Given the description of an element on the screen output the (x, y) to click on. 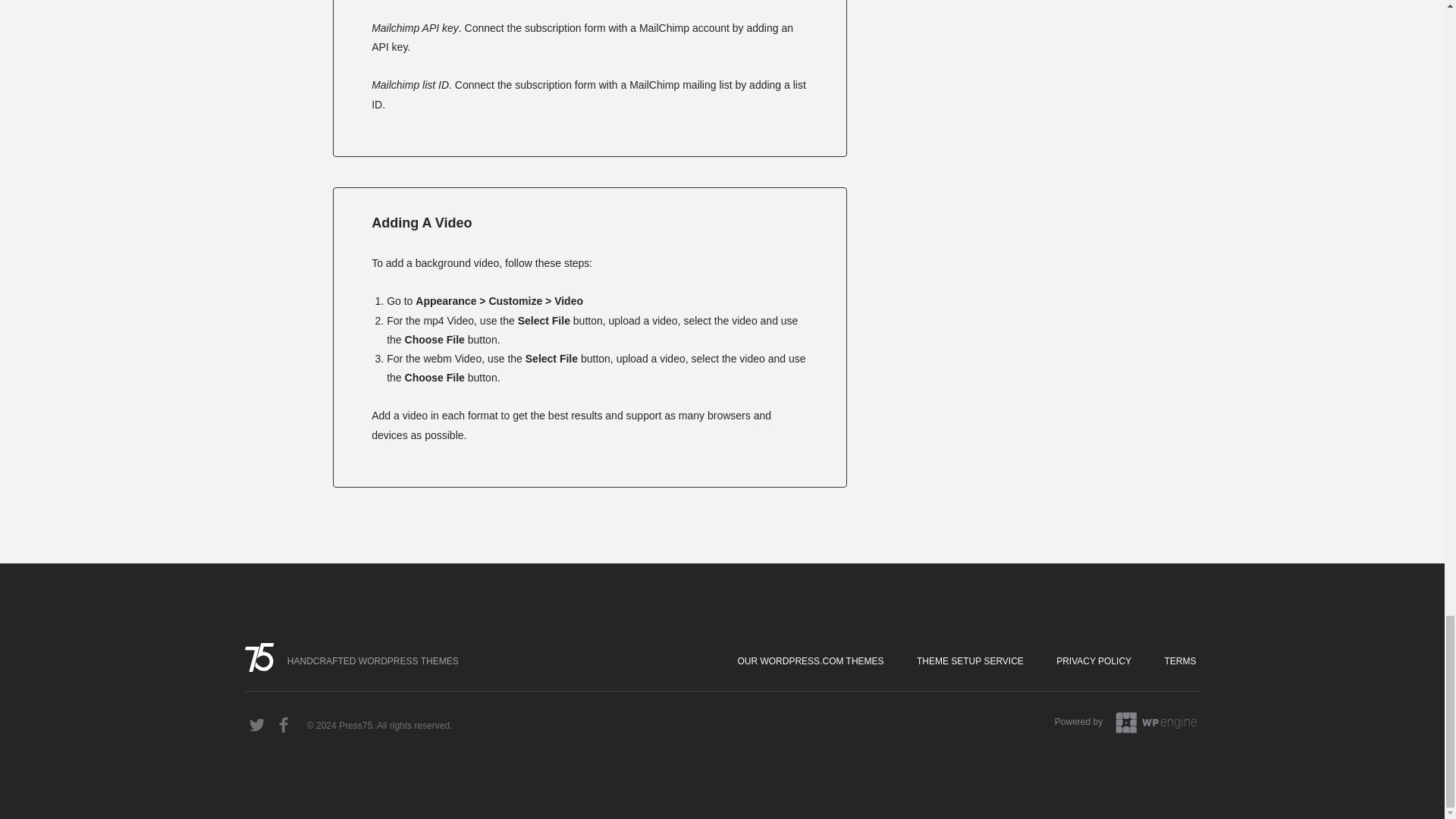
PRIVACY POLICY (1093, 660)
TERMS (1179, 660)
THEME SETUP SERVICE (969, 660)
OUR WORDPRESS.COM THEMES (809, 660)
HANDCRAFTED WORDPRESS THEMES (356, 661)
